Given the description of an element on the screen output the (x, y) to click on. 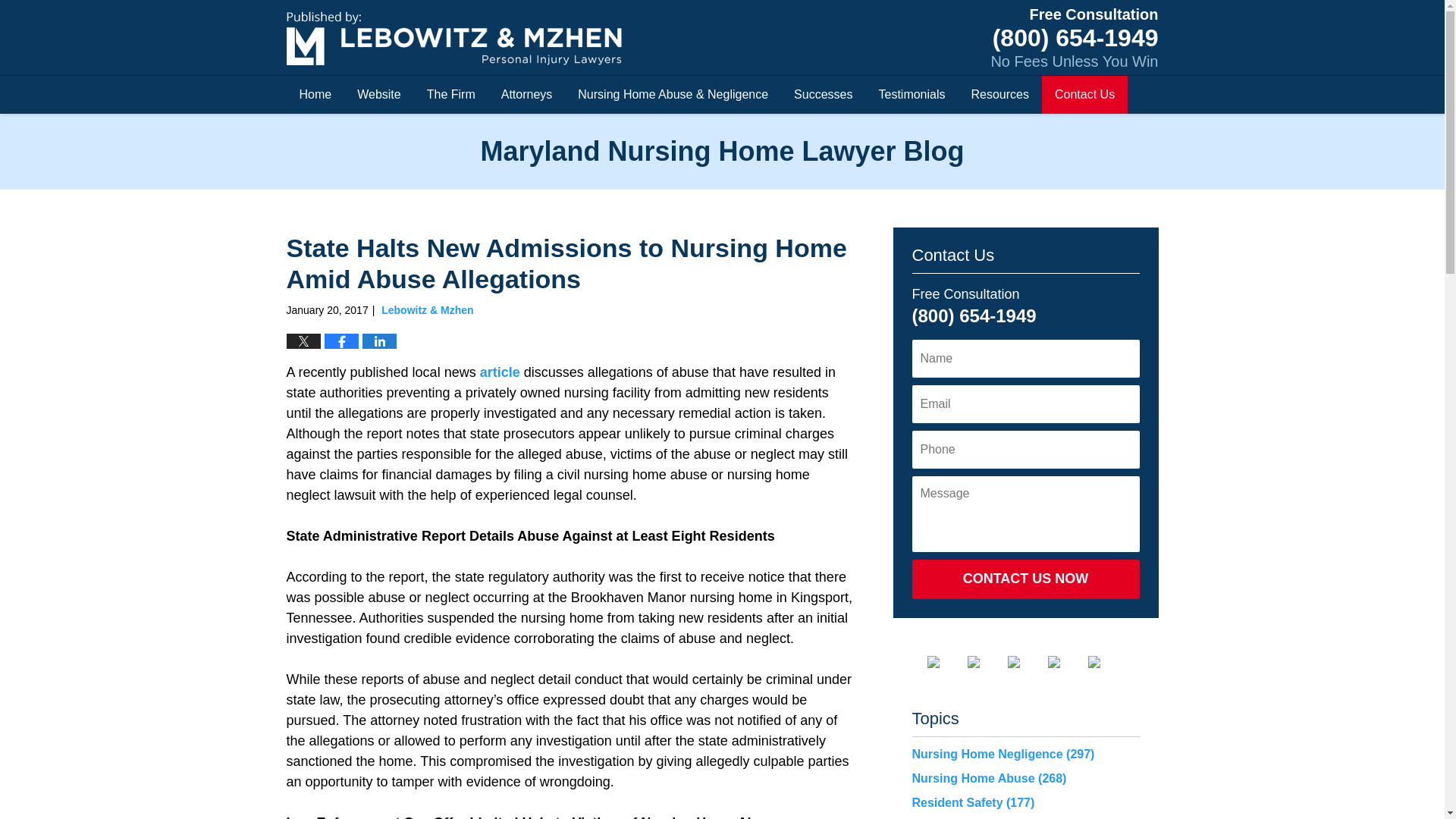
Successes (822, 94)
Justia (1066, 662)
Twitter (986, 662)
The Firm (450, 94)
article (499, 372)
Contact Us (1084, 94)
Testimonials (911, 94)
Home (315, 94)
Facebook (944, 662)
Resources (1000, 94)
